Given the description of an element on the screen output the (x, y) to click on. 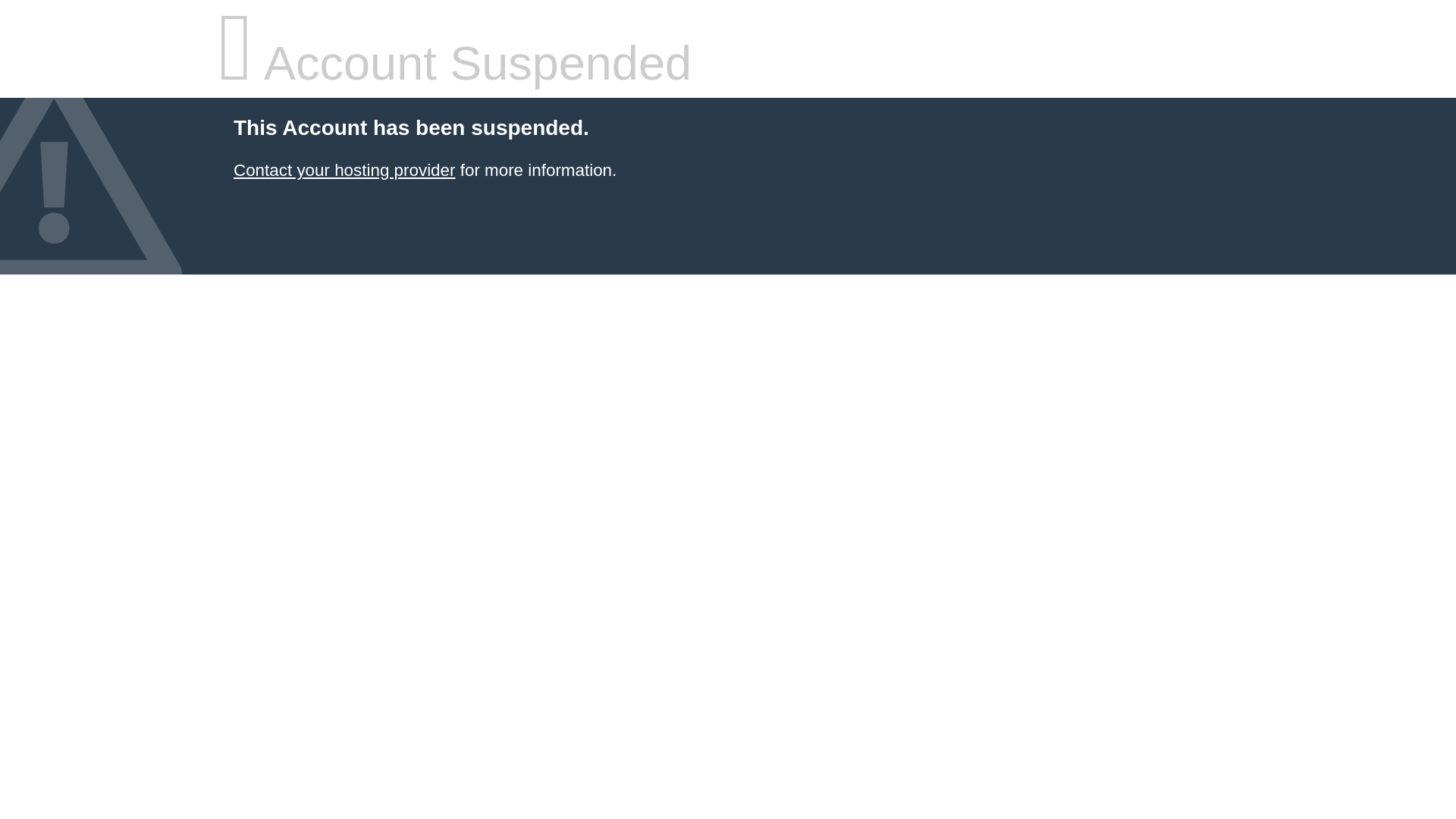
Contact your hosting provider (343, 169)
